Given the description of an element on the screen output the (x, y) to click on. 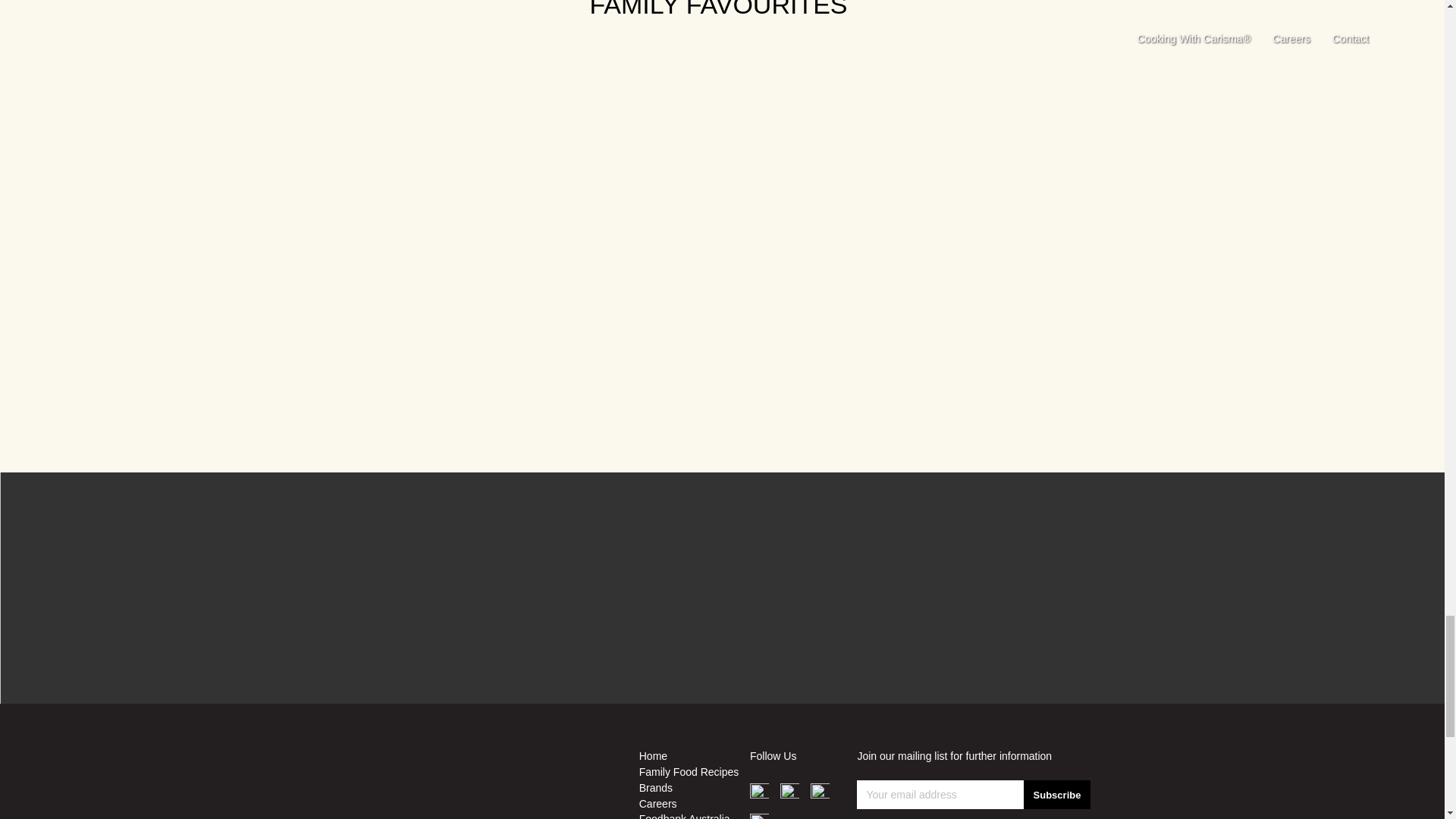
Careers (694, 803)
Home (694, 756)
Subscribe (1056, 794)
Foodbank Australia Partnership (694, 816)
Brands (694, 788)
Family Food Recipes (694, 771)
